Given the description of an element on the screen output the (x, y) to click on. 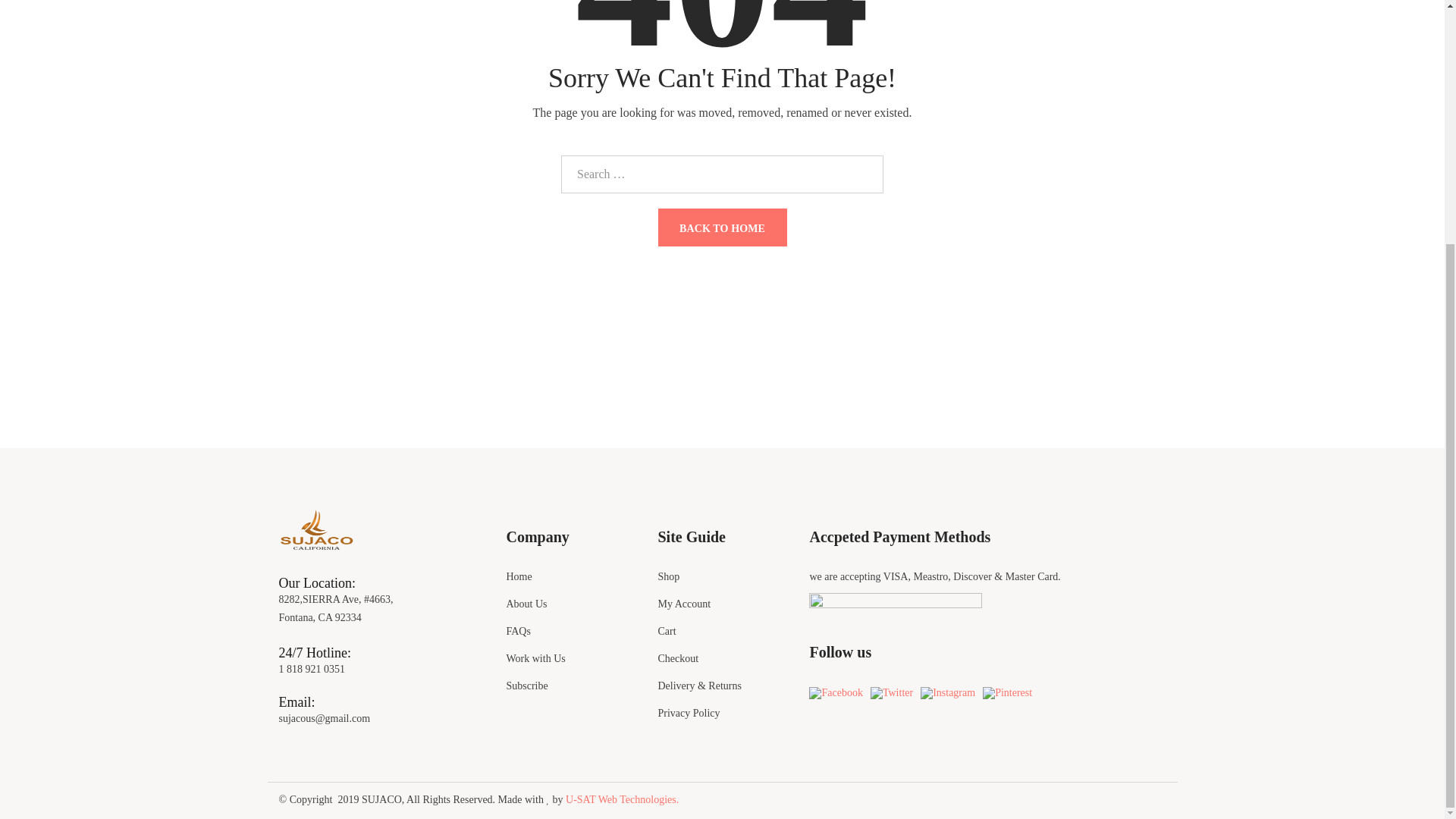
Instagram (947, 693)
Facebook (835, 693)
Facebook (837, 692)
Pinterest (1007, 693)
Pinterest (1008, 692)
Twitter (891, 693)
Twitter (893, 692)
Instagram (949, 692)
